Given the description of an element on the screen output the (x, y) to click on. 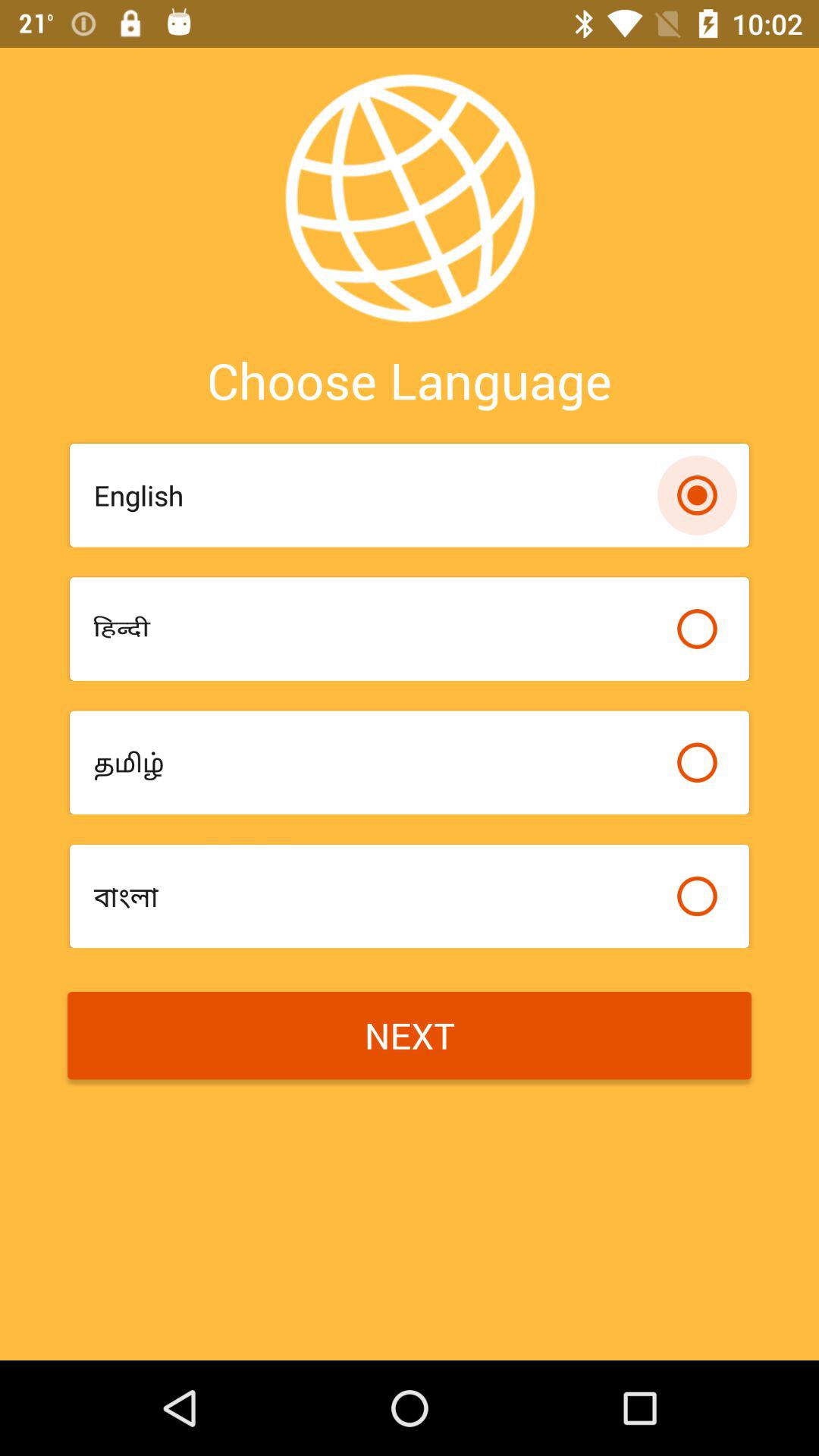
open item at the bottom (409, 1035)
